Given the description of an element on the screen output the (x, y) to click on. 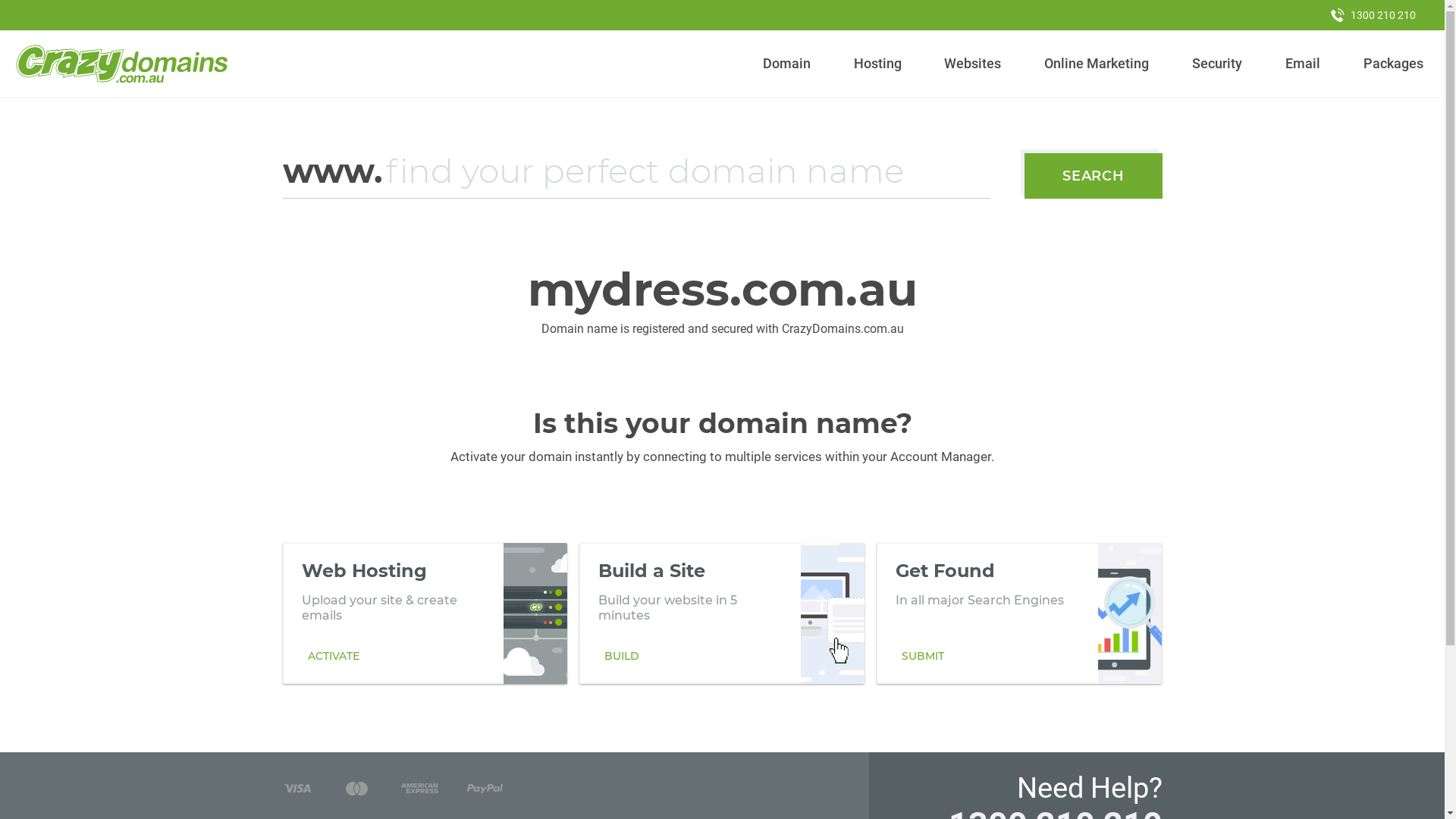
Web Hosting
Upload your site & create emails
ACTIVATE Element type: text (424, 613)
Domain Element type: text (786, 63)
Websites Element type: text (972, 63)
1300 210 210 Element type: text (1373, 15)
Online Marketing Element type: text (1096, 63)
Security Element type: text (1217, 63)
Hosting Element type: text (877, 63)
Get Found
In all major Search Engines
SUBMIT Element type: text (1018, 613)
Packages Element type: text (1392, 63)
Email Element type: text (1302, 63)
SEARCH Element type: text (1092, 175)
Build a Site
Build your website in 5 minutes
BUILD Element type: text (721, 613)
